Given the description of an element on the screen output the (x, y) to click on. 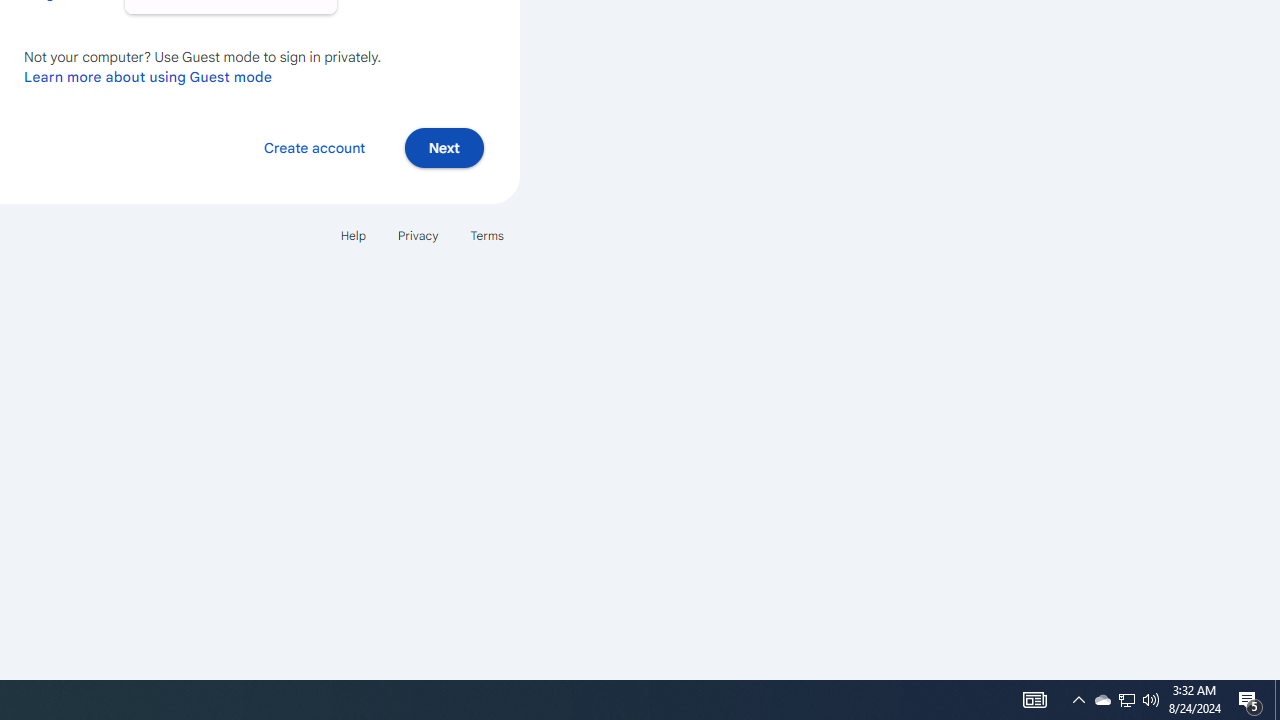
Learn more about using Guest mode (148, 76)
Create account (314, 146)
